Given the description of an element on the screen output the (x, y) to click on. 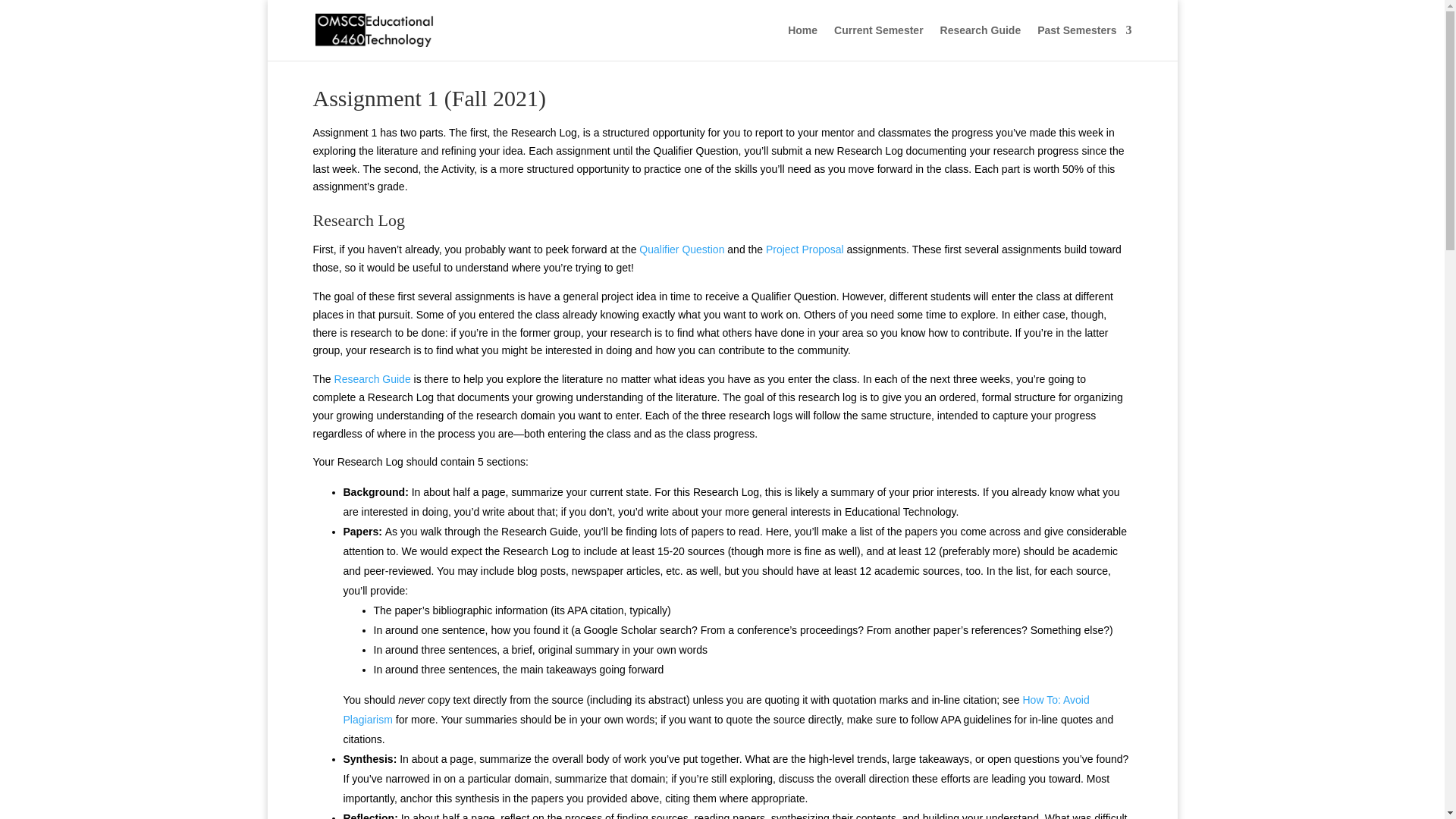
Current Semester (878, 42)
Research Guide (372, 378)
How To: Avoid Plagiarism (715, 709)
Qualifier Question (681, 249)
Research Guide (981, 42)
Past Semesters (1083, 42)
Home (801, 42)
Project Proposal (804, 249)
